Given the description of an element on the screen output the (x, y) to click on. 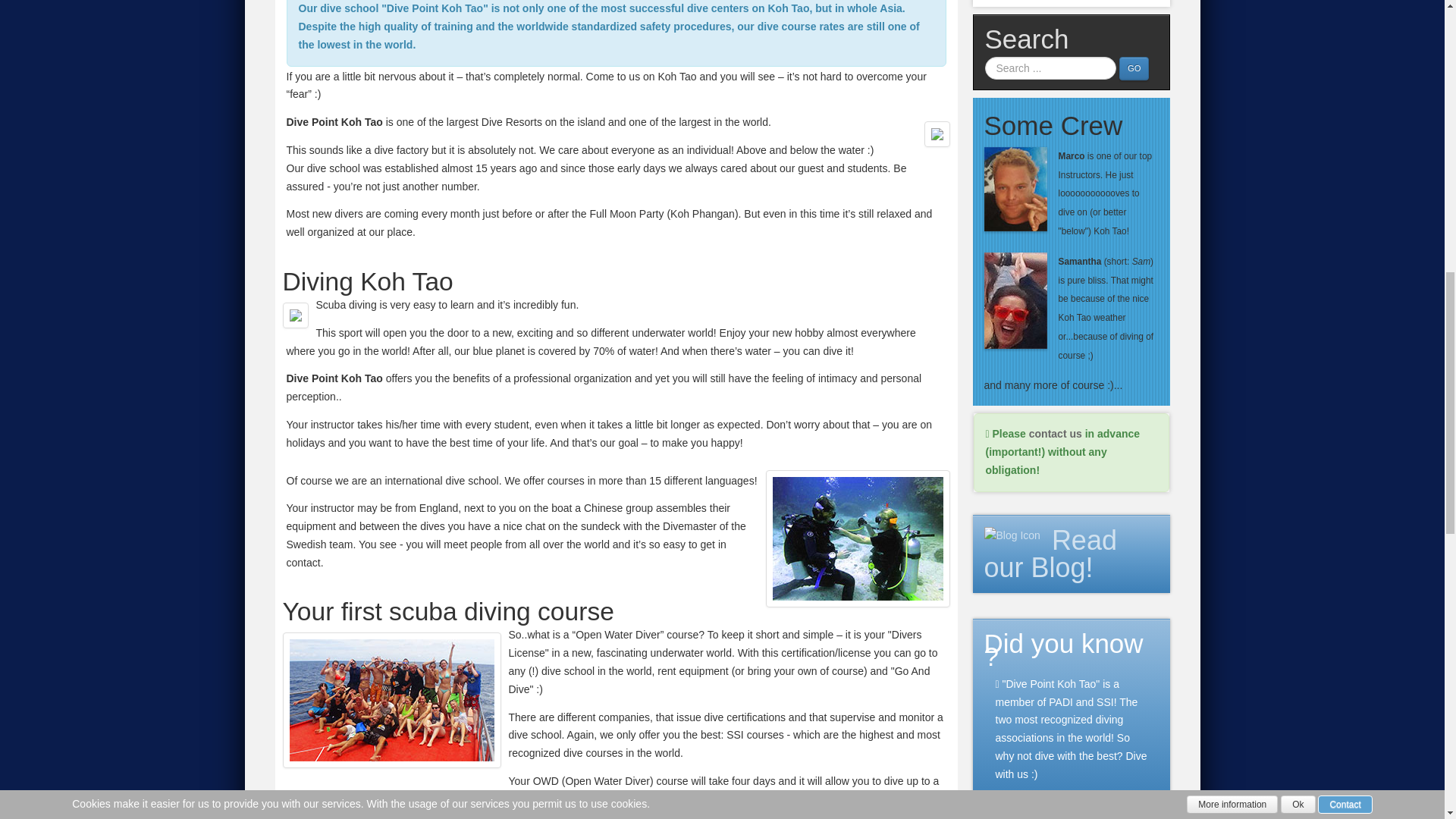
GO (1133, 68)
Please contact us! (1055, 433)
All Koh Tao News (1050, 553)
Read our Blog! (1050, 553)
contact us (1055, 433)
All Koh Tao News (1012, 535)
